Given the description of an element on the screen output the (x, y) to click on. 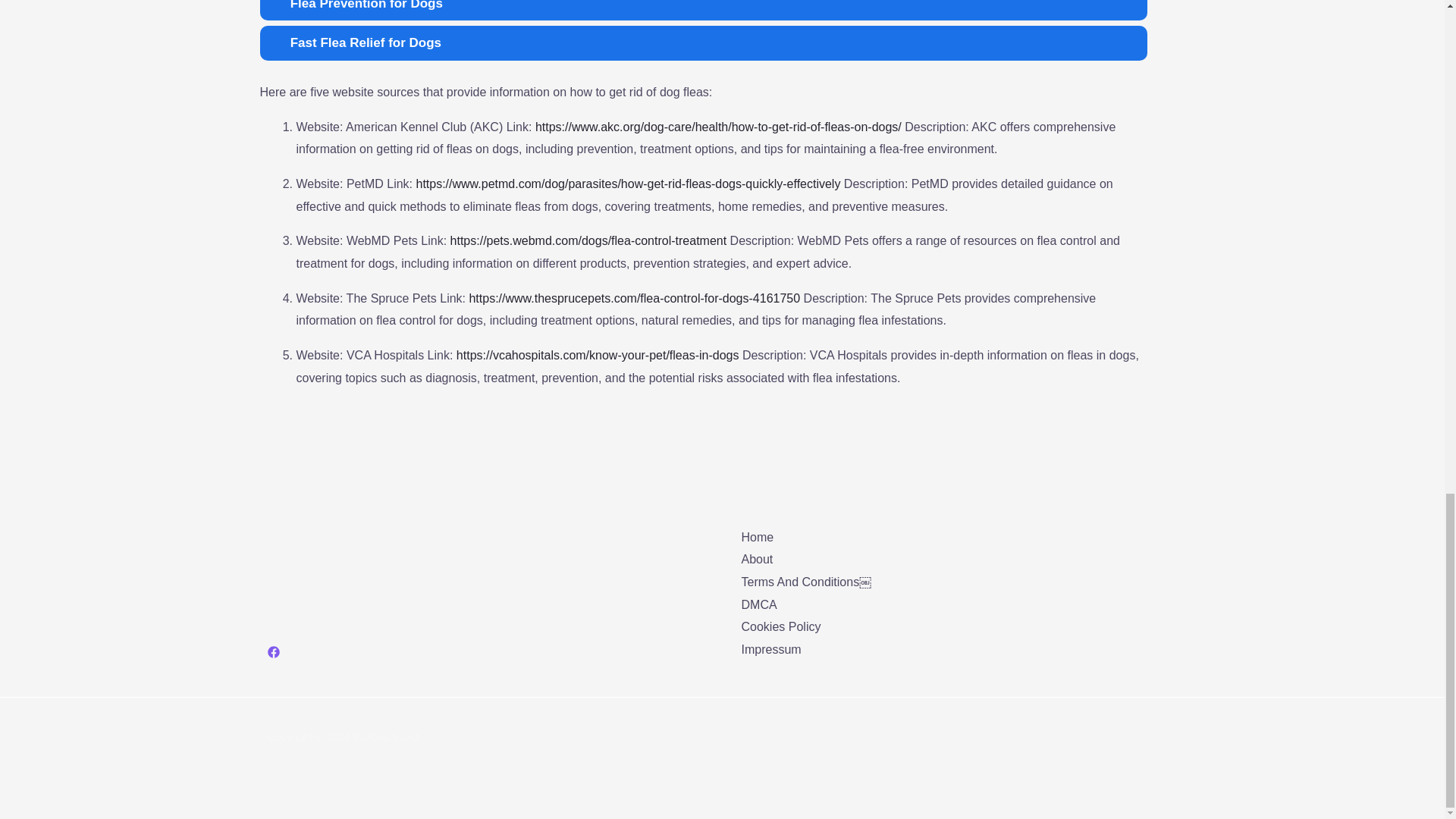
DMCA (759, 604)
Cookies Policy (781, 626)
Fast Flea Relief for Dogs (703, 42)
Home (757, 536)
Flea Prevention for Dogs (703, 10)
About (757, 558)
Impressum (771, 649)
